Given the description of an element on the screen output the (x, y) to click on. 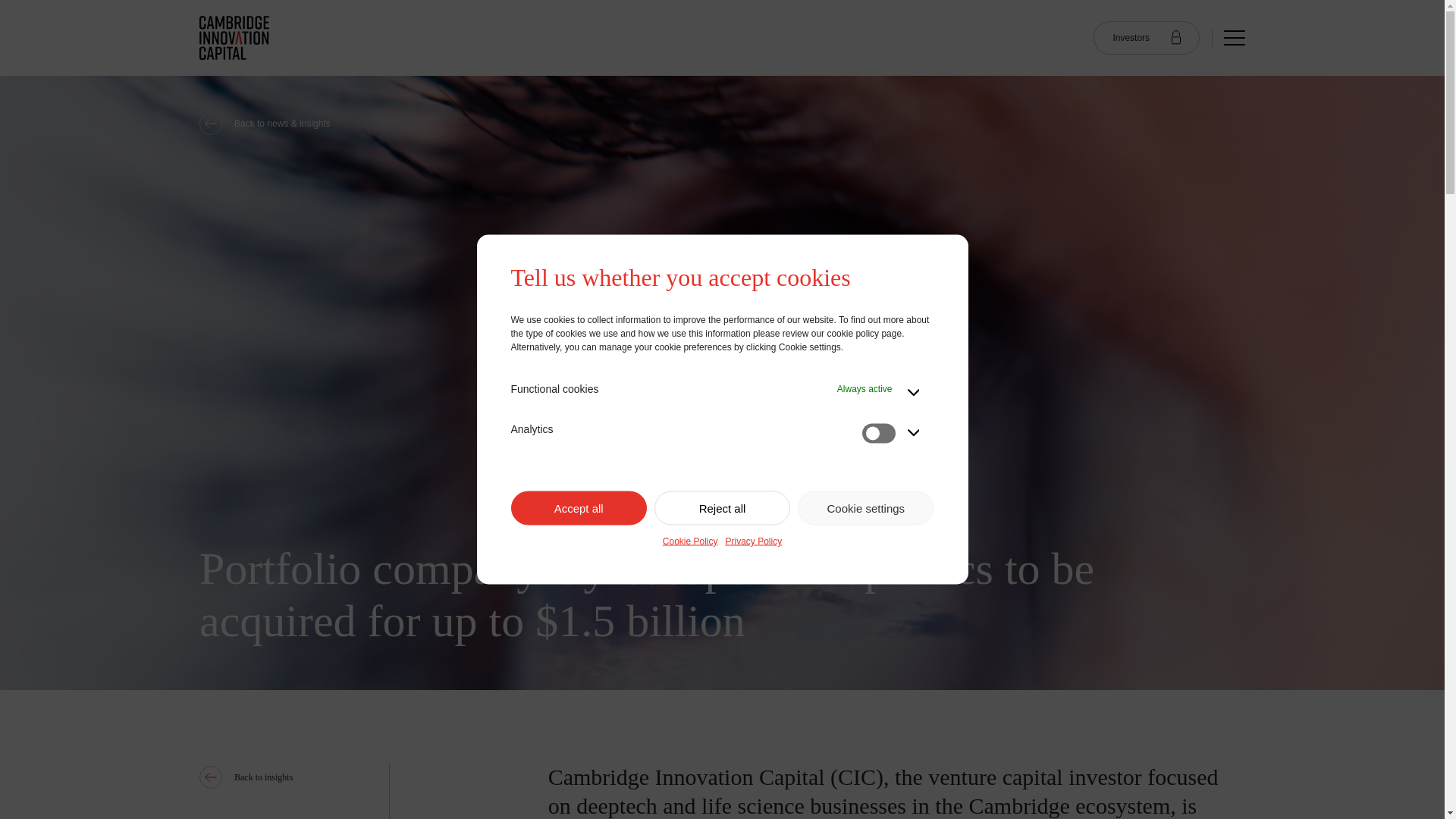
Reject all (721, 508)
Privacy Policy (753, 540)
Investors (1146, 37)
Cookie Policy (689, 540)
Back to insights (330, 776)
Accept all (578, 508)
Cookie settings (865, 508)
